Given the description of an element on the screen output the (x, y) to click on. 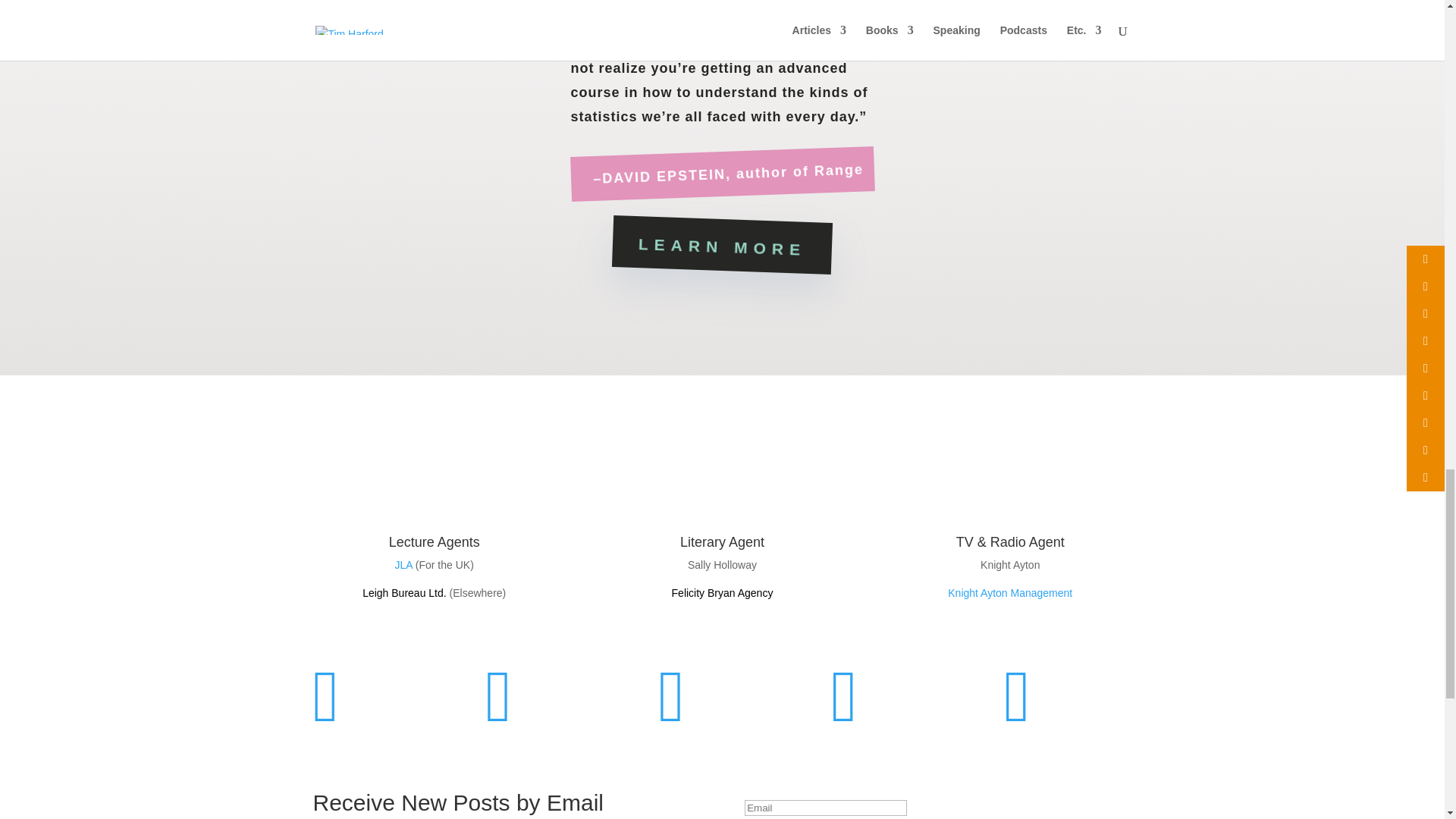
JLA (403, 564)
Knight Ayton Management (1009, 592)
Felicity Bryan Agency (722, 592)
Leigh Bureau Ltd. (404, 592)
LEARN MORE (721, 240)
